Given the description of an element on the screen output the (x, y) to click on. 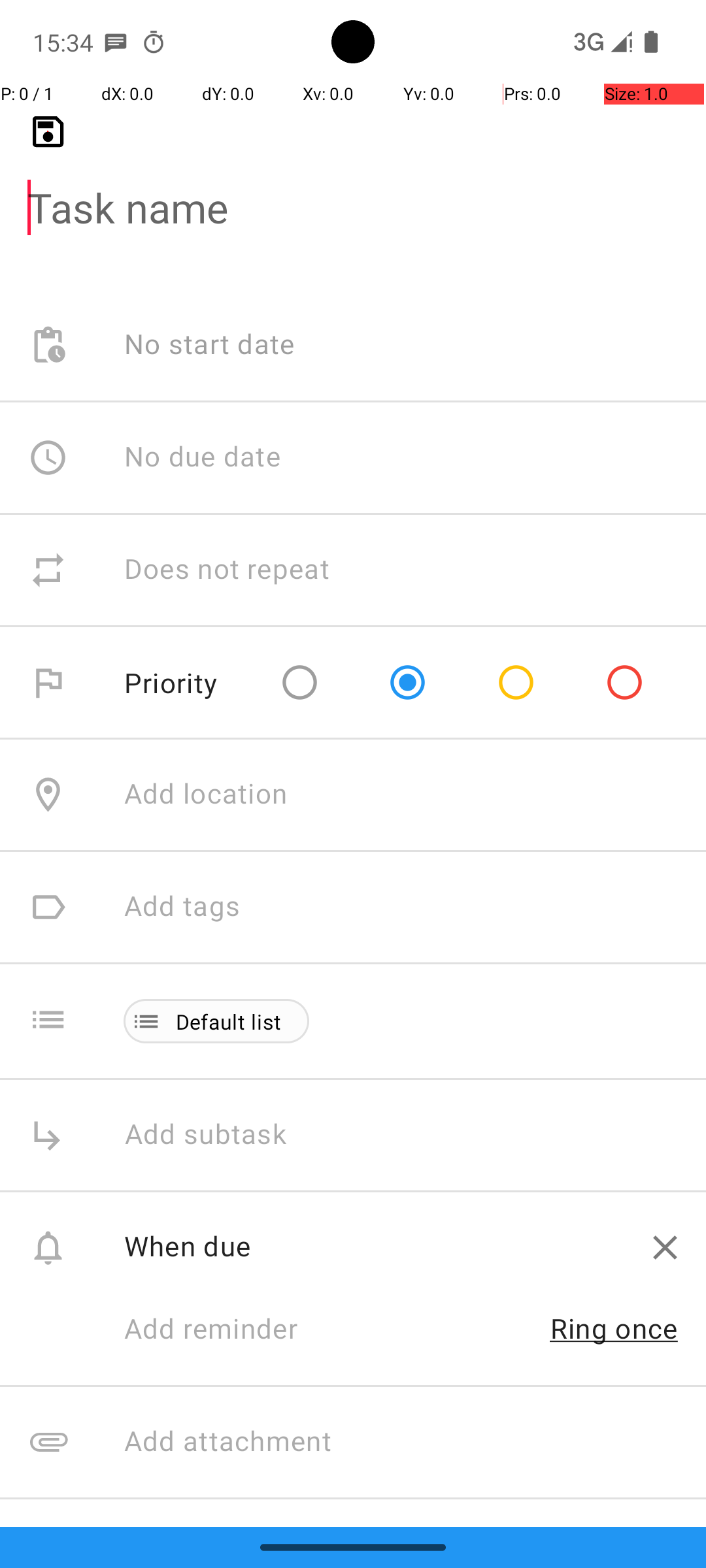
Ring once Element type: android.widget.TextView (613, 1328)
When due Element type: android.widget.TextView (373, 1245)
